Given the description of an element on the screen output the (x, y) to click on. 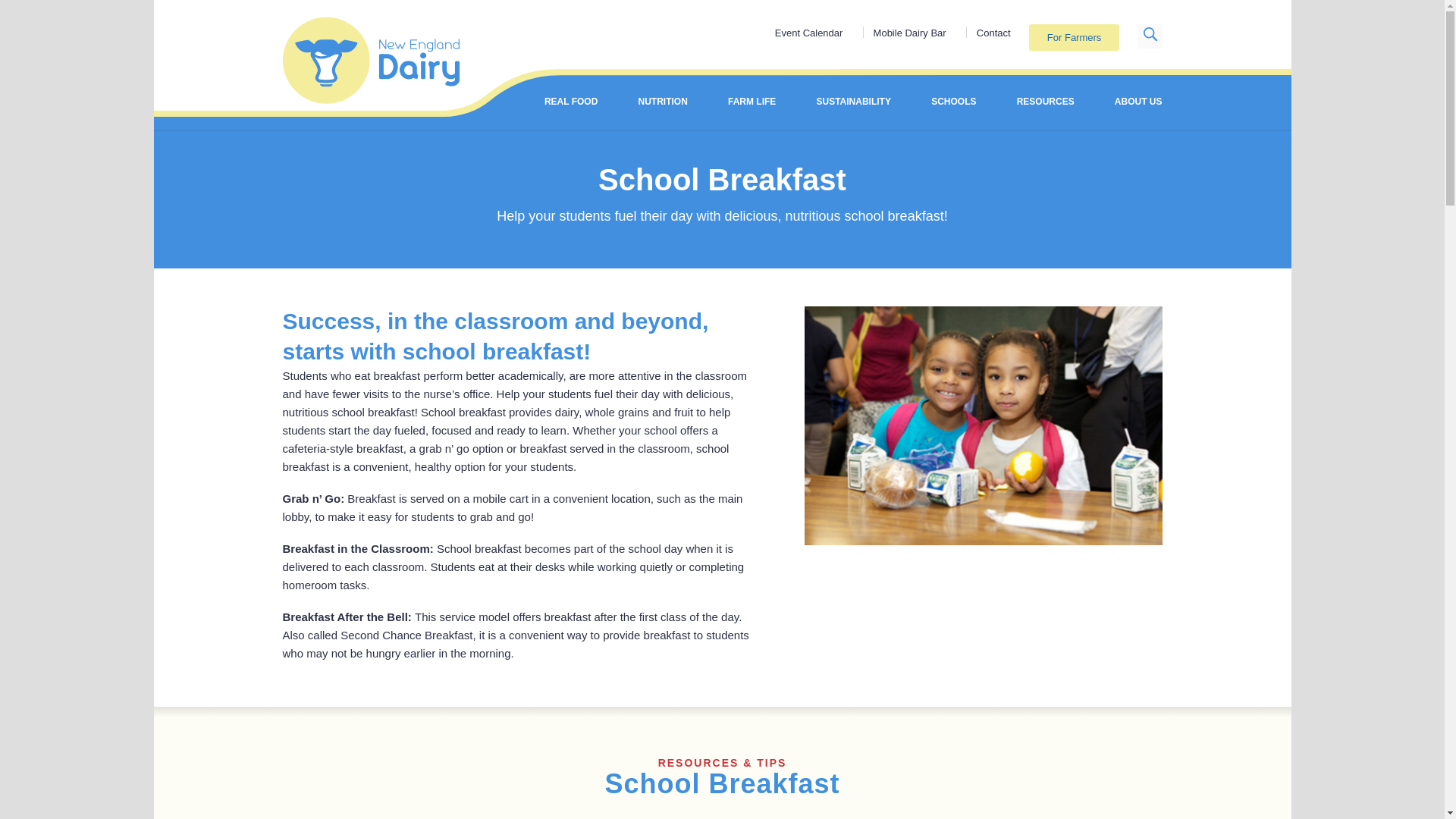
For Farmers (1074, 37)
